Given the description of an element on the screen output the (x, y) to click on. 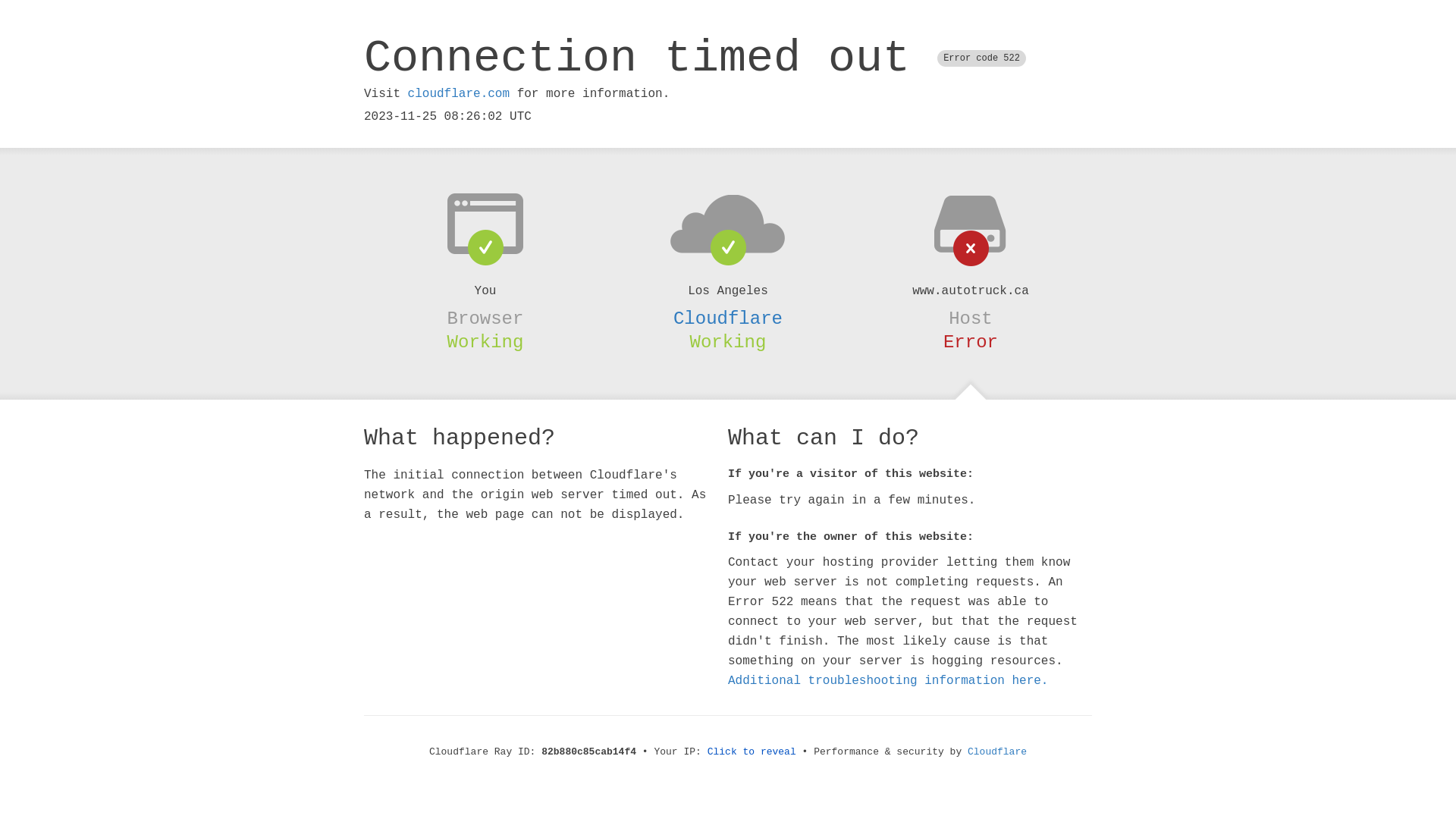
Cloudflare Element type: text (727, 318)
Additional troubleshooting information here. Element type: text (888, 680)
Cloudflare Element type: text (996, 751)
cloudflare.com Element type: text (458, 93)
Click to reveal Element type: text (751, 751)
